Given the description of an element on the screen output the (x, y) to click on. 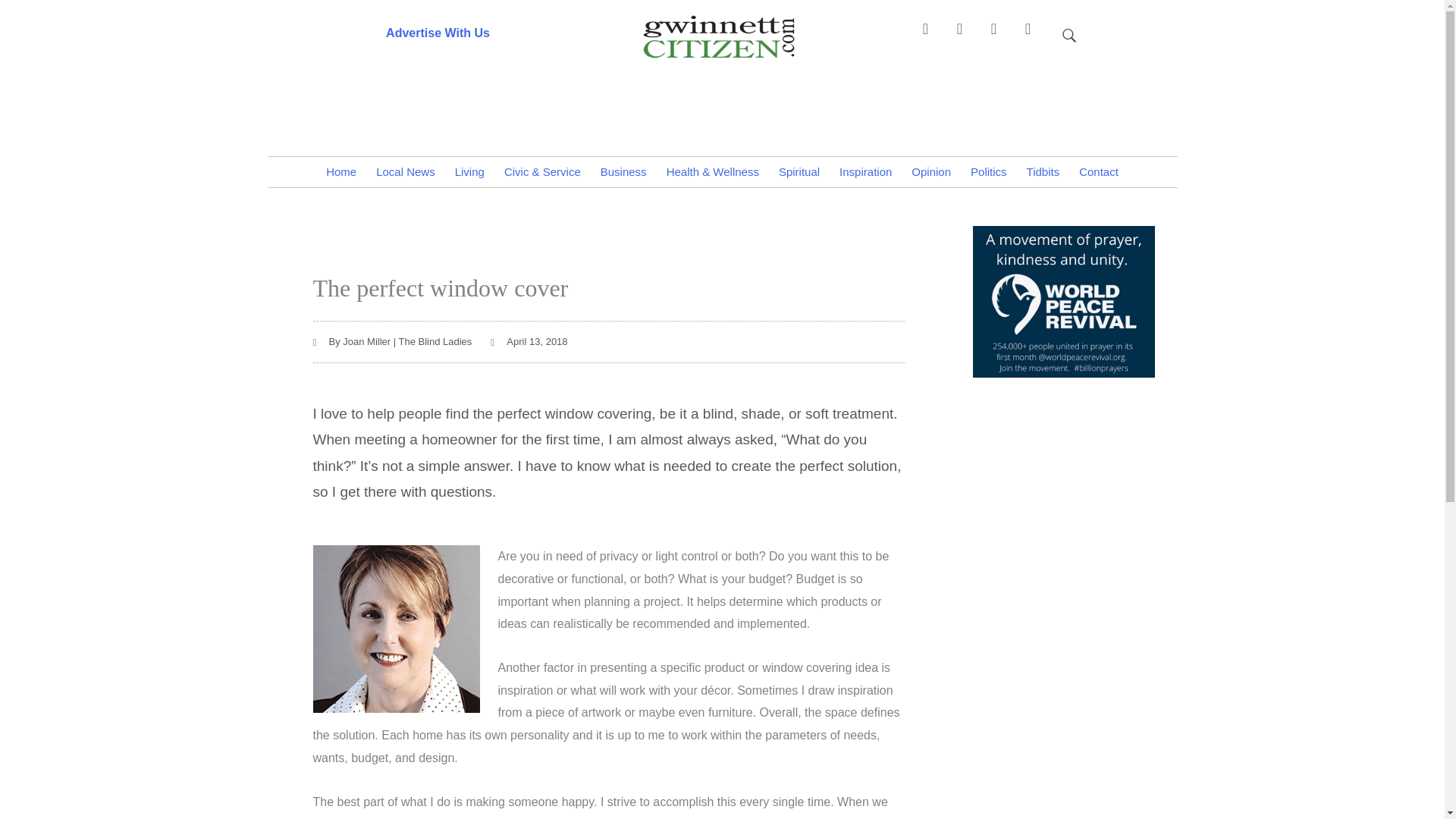
Local News (405, 172)
Joan Miller (396, 628)
Opinion (930, 172)
Politics (988, 172)
Spiritual (798, 172)
Business (623, 172)
Tidbits (1043, 172)
Youtube (1034, 36)
Twitter (1000, 36)
Inspiration (865, 172)
